Given the description of an element on the screen output the (x, y) to click on. 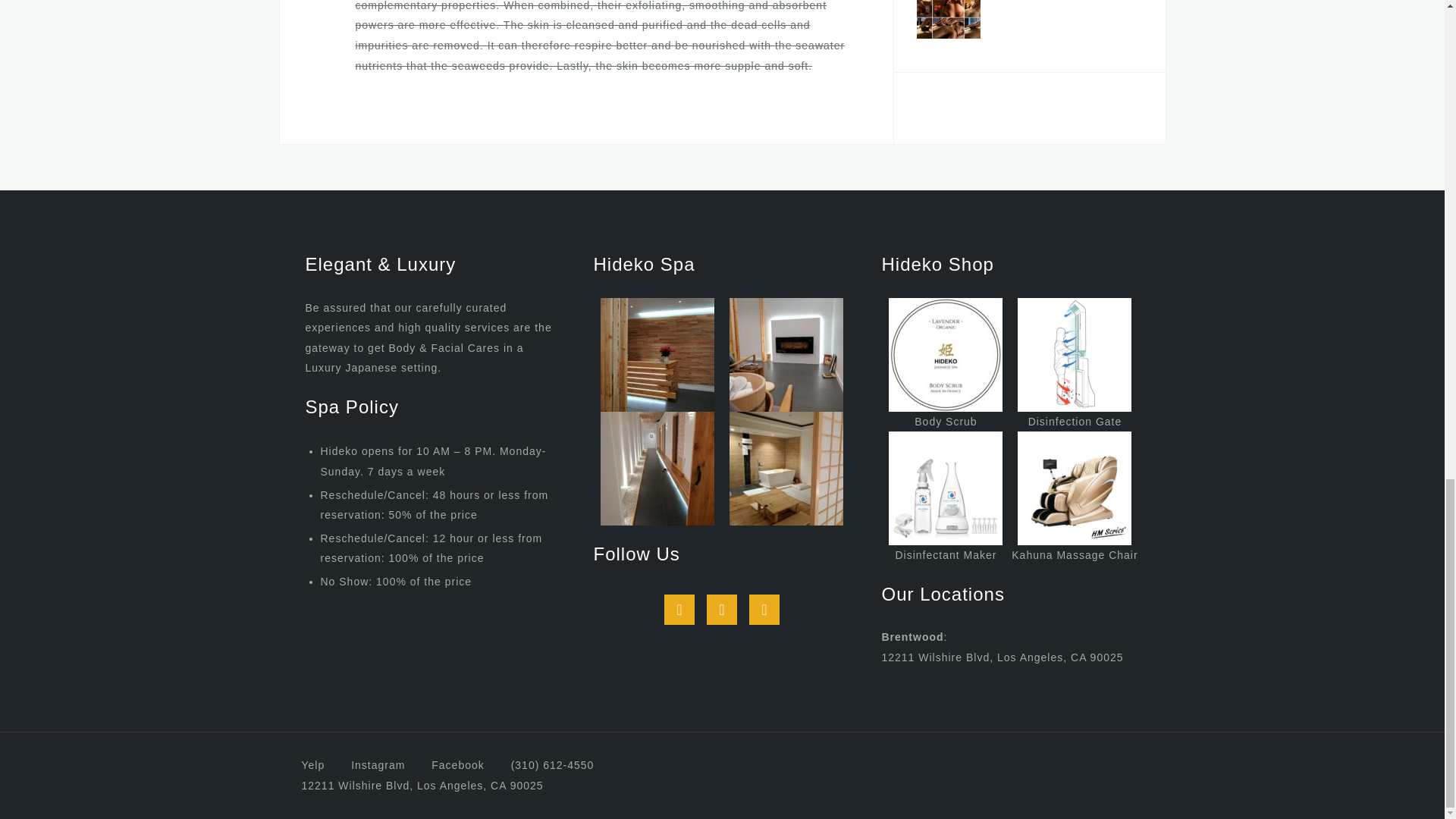
12211 Wilshire Blvd, Los Angeles, CA 90025 (422, 785)
Instagram (721, 609)
Instagram (377, 765)
Yelp (312, 765)
Yelp (763, 609)
Facebook (678, 609)
Facebook (456, 765)
